Given the description of an element on the screen output the (x, y) to click on. 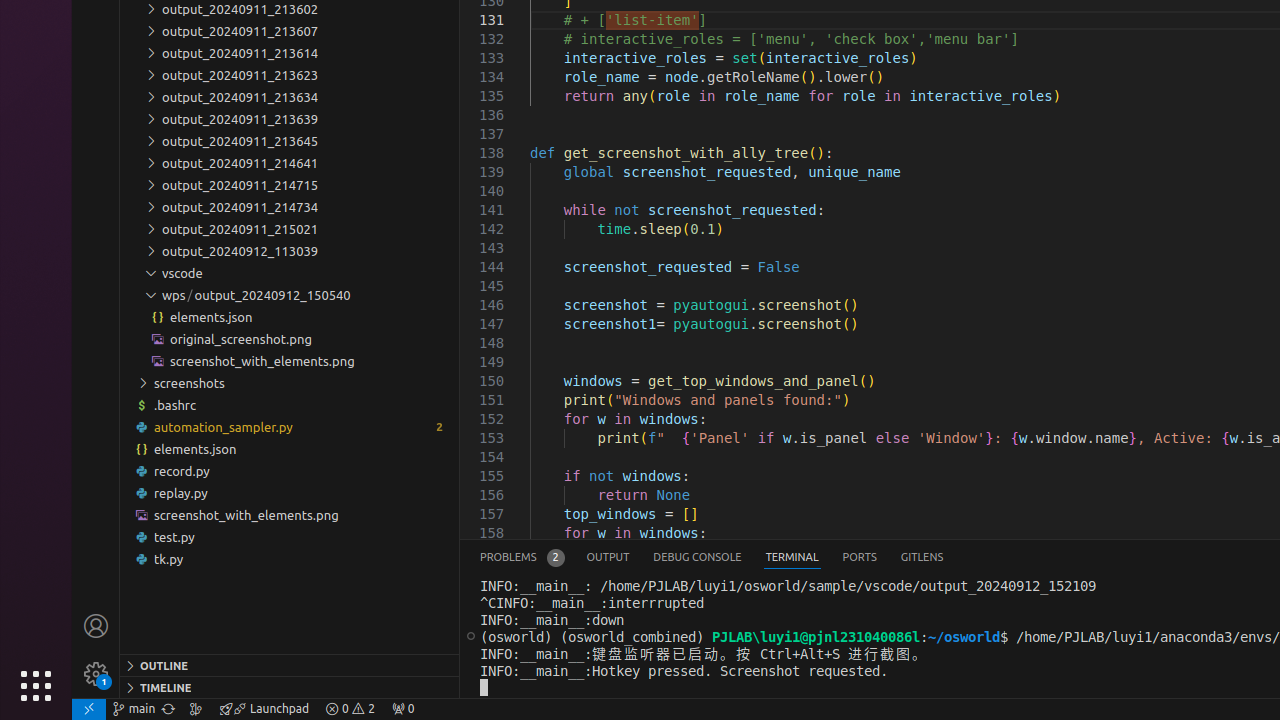
output_20240912_113039 Element type: tree-item (289, 251)
output_20240911_214641 Element type: tree-item (289, 163)
elements.json Element type: tree-item (289, 448)
replay.py Element type: tree-item (289, 492)
